Given the description of an element on the screen output the (x, y) to click on. 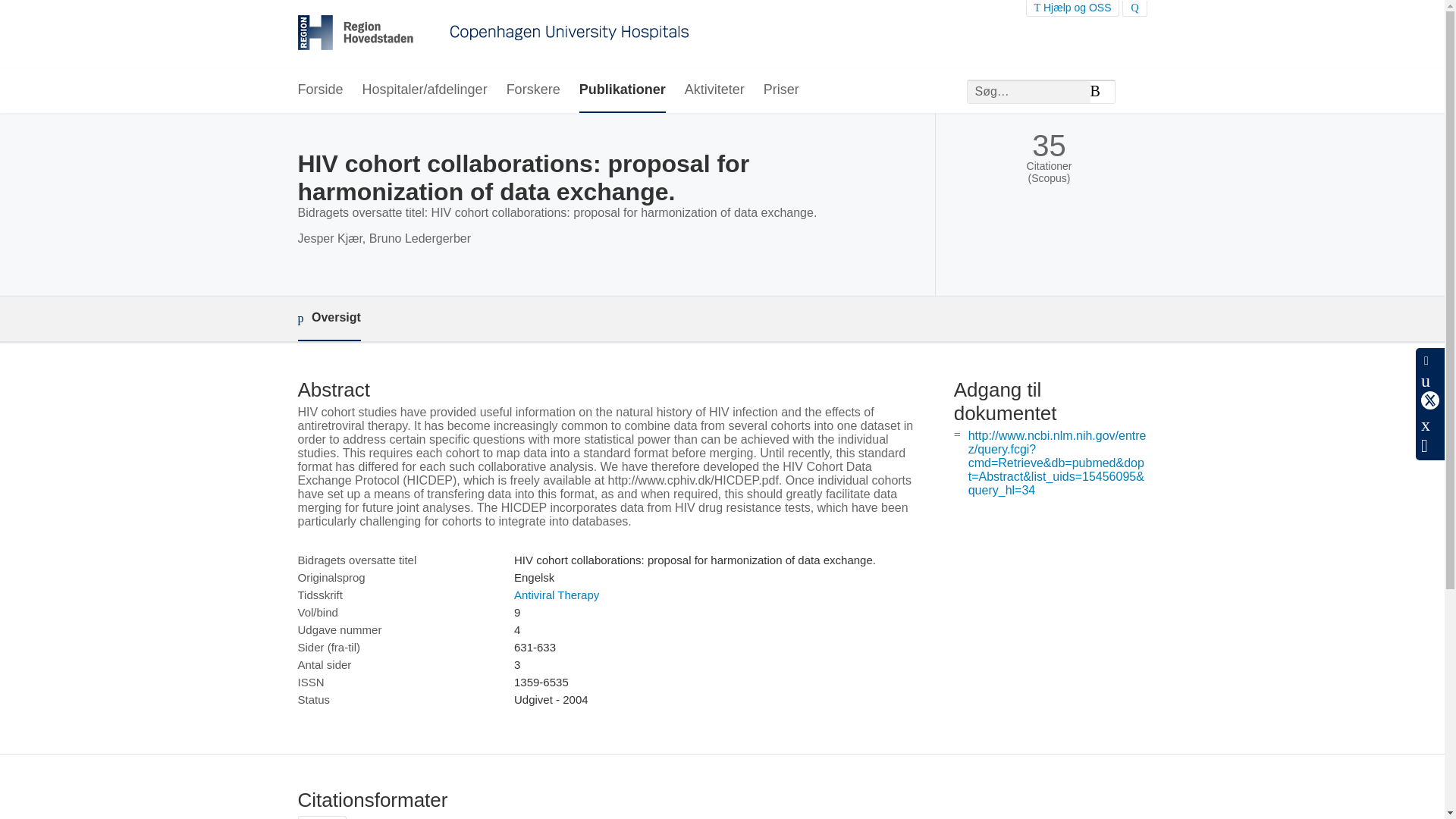
Forskere (533, 90)
Antiviral Therapy (555, 594)
Priser (780, 90)
Publikationer (622, 90)
Aktiviteter (714, 90)
Region Hovedstadens forskningsportal Forside (492, 34)
Forside (319, 90)
Oversigt (328, 318)
